Given the description of an element on the screen output the (x, y) to click on. 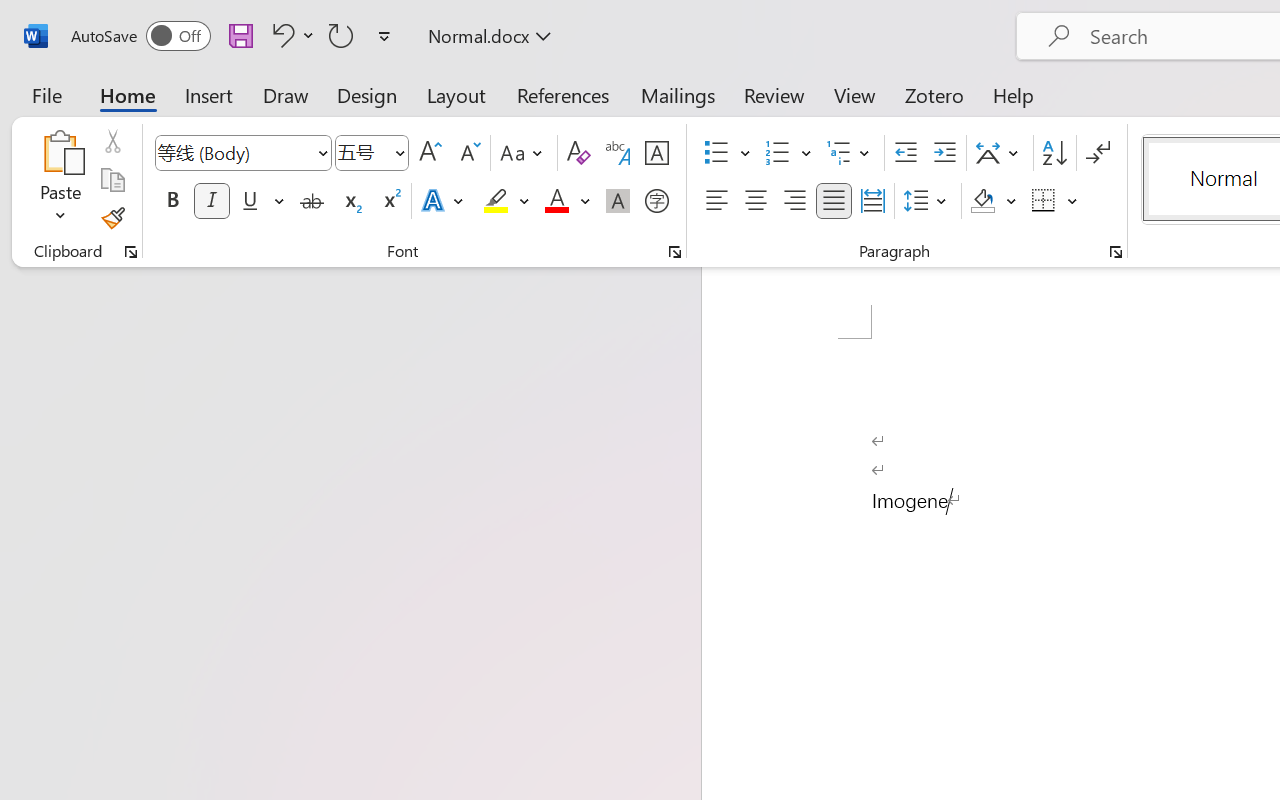
Undo Italic (290, 35)
Grow Font (430, 153)
Help (1013, 94)
Enclose Characters... (656, 201)
Shrink Font (468, 153)
Align Right (794, 201)
Text Highlight Color (506, 201)
Font Color (567, 201)
